Given the description of an element on the screen output the (x, y) to click on. 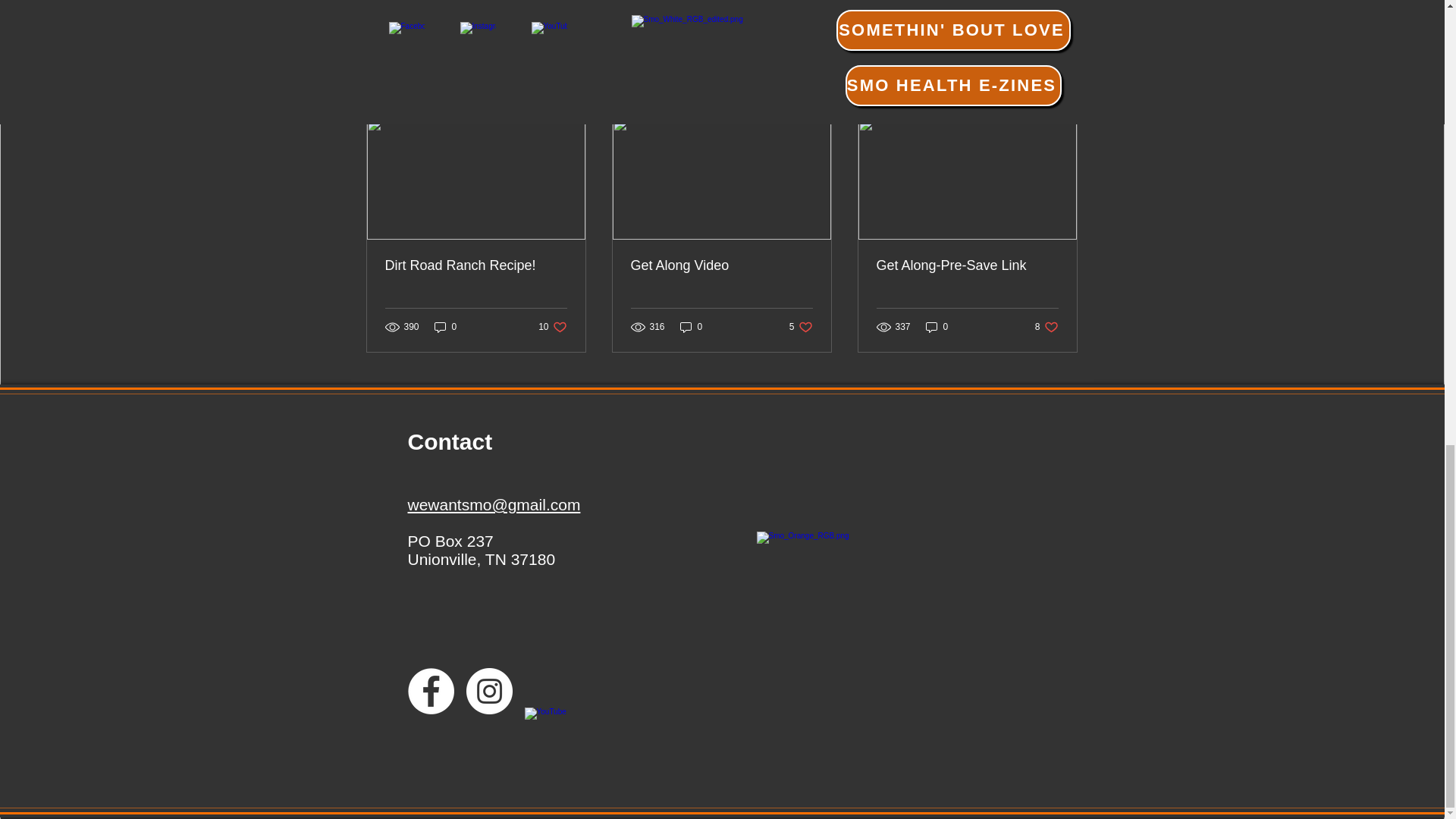
Dirt Road Ranch Recipe! (476, 265)
Get Along Video (800, 326)
0 (1046, 326)
0 (721, 265)
0 (552, 326)
Get Along-Pre-Save Link (445, 326)
See All (937, 326)
